Given the description of an element on the screen output the (x, y) to click on. 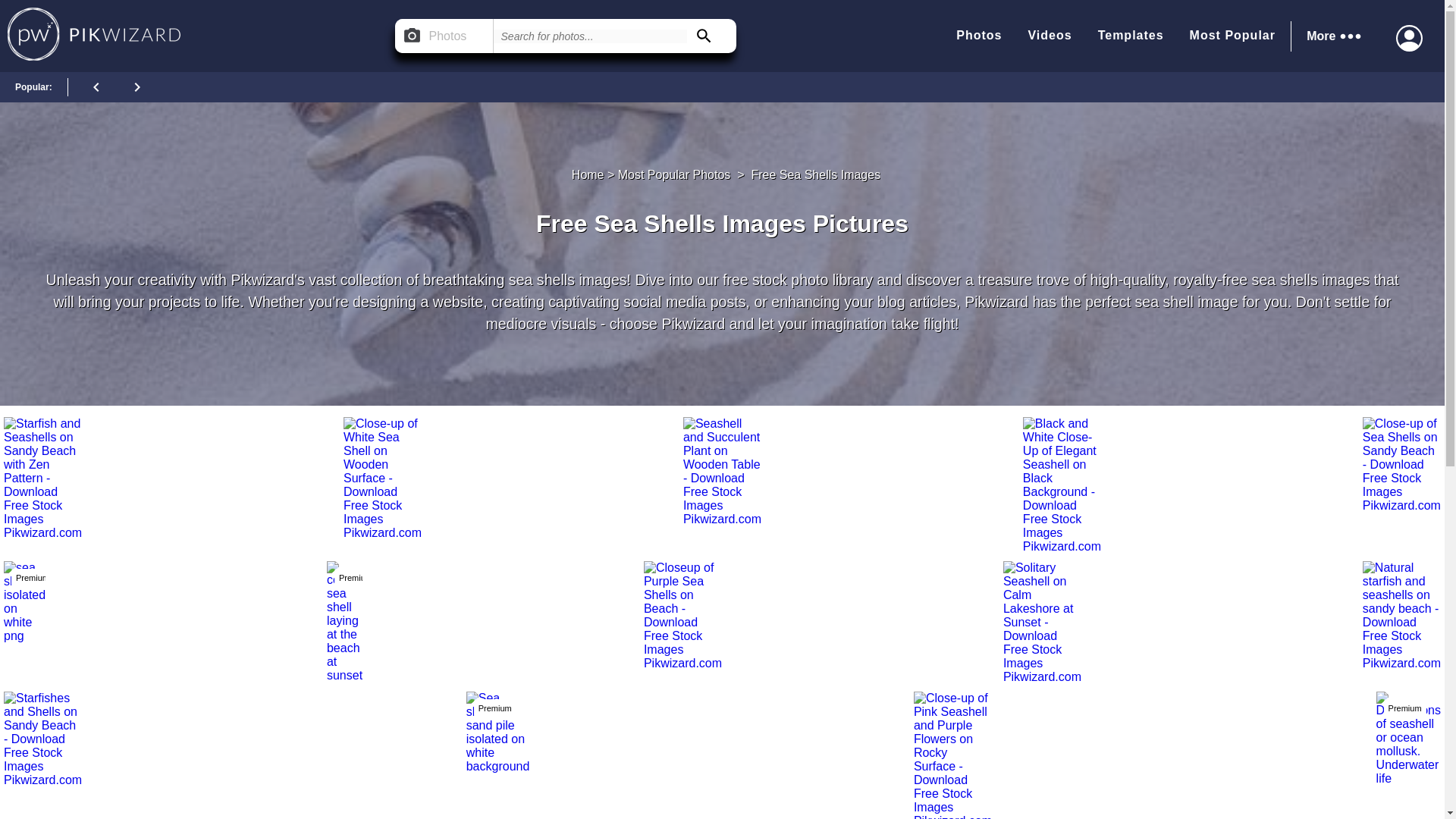
Home (588, 174)
Photos (978, 35)
Photos (443, 35)
Videos (1049, 35)
Most Popular Photos (673, 174)
Templates (1130, 35)
